Given the description of an element on the screen output the (x, y) to click on. 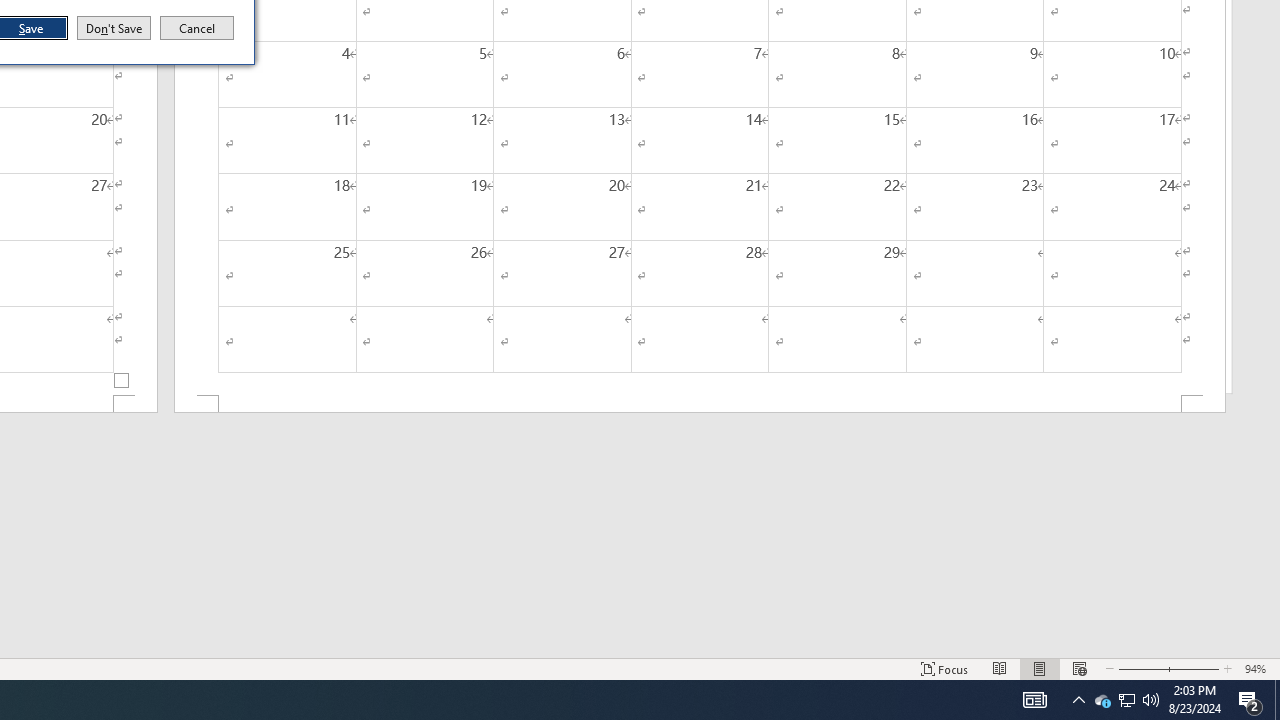
Print Layout (1039, 668)
Show desktop (1126, 699)
Q2790: 100% (1277, 699)
Zoom Out (1151, 699)
Don't Save (1140, 668)
Focus  (113, 27)
Zoom In (944, 668)
Cancel (1193, 668)
Notification Chevron (197, 27)
Web Layout (1078, 699)
Read Mode (1079, 668)
User Promoted Notification Area (1000, 668)
